Given the description of an element on the screen output the (x, y) to click on. 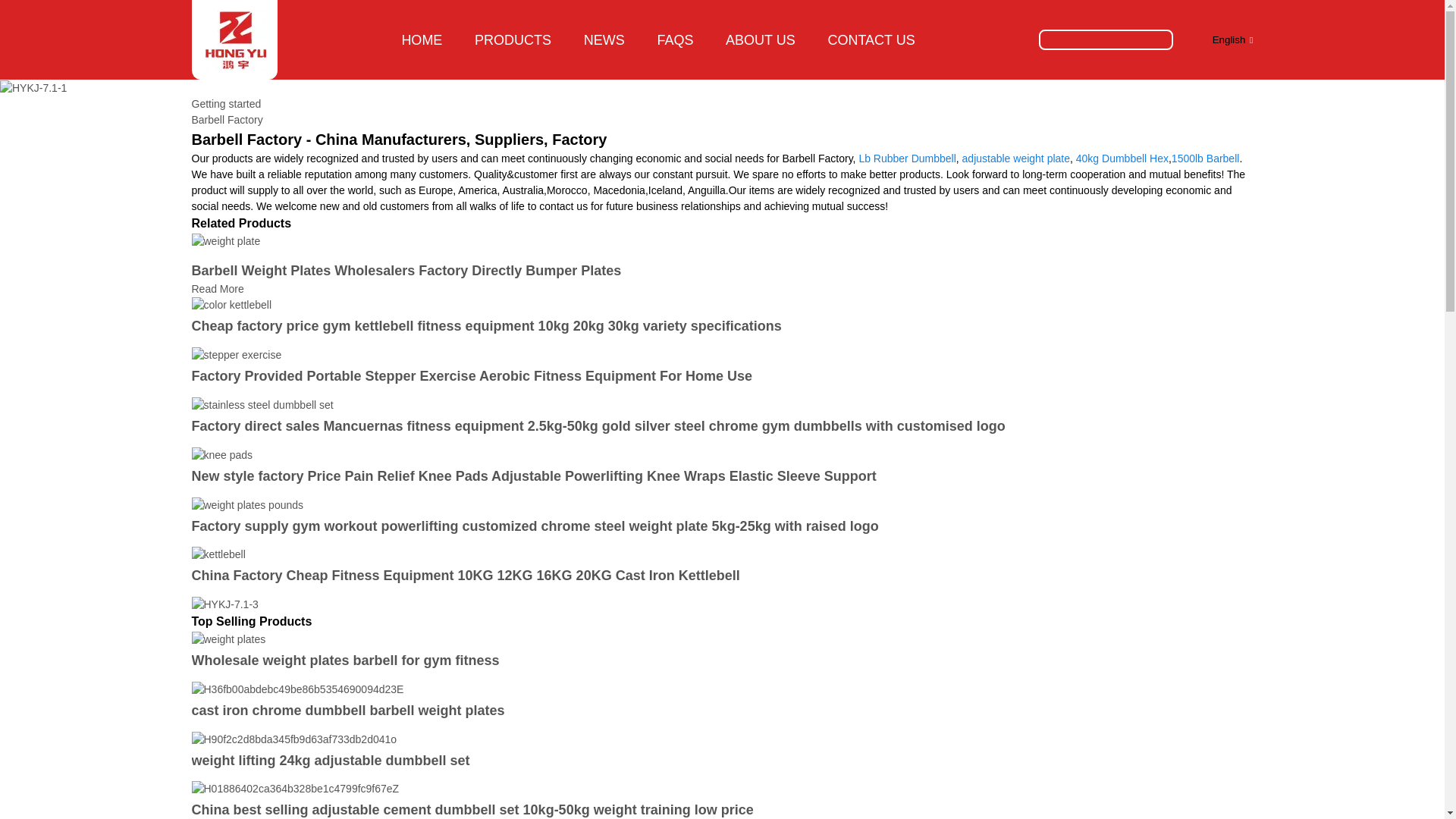
ABOUT US (760, 39)
FAQS (675, 39)
NEWS (603, 39)
Lb Rubber Dumbbell (907, 158)
adjustable weight plate (1016, 158)
